Given the description of an element on the screen output the (x, y) to click on. 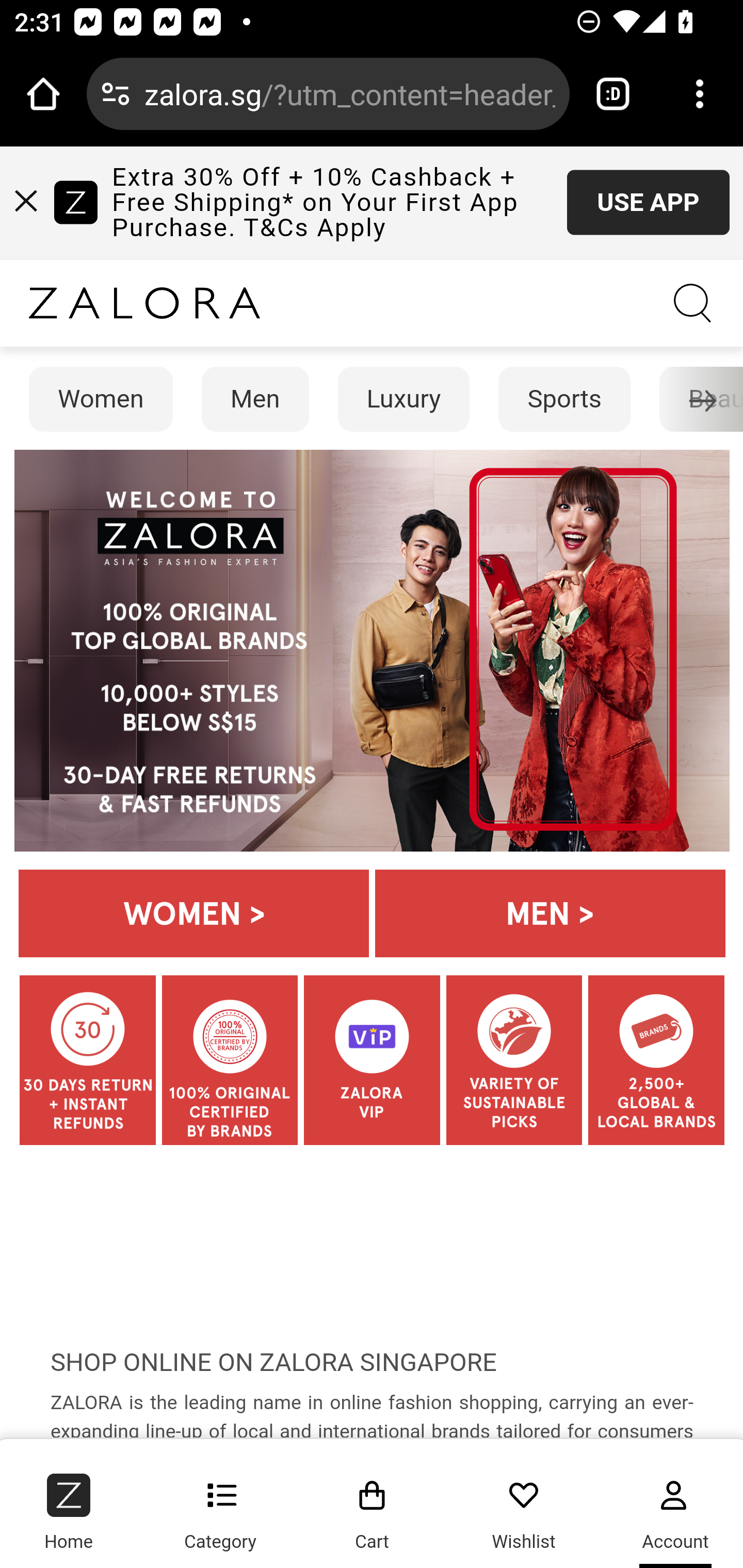
Open the home page (43, 93)
Connection is secure (115, 93)
Switch or close tabs (612, 93)
Customize and control Google Chrome (699, 93)
# (26, 200)
www.zalora (144, 303)
Women (100, 398)
Men (254, 398)
Luxury (403, 398)
Sports (565, 398)
HOMEPAGE_1920_x_480_WOMEN (193, 913)
HOMEPAGE_1920_x_480_MEN (550, 913)
Home (72, 1505)
Category (220, 1505)
Cart (372, 1505)
Wishlist (523, 1505)
Account (671, 1505)
